Given the description of an element on the screen output the (x, y) to click on. 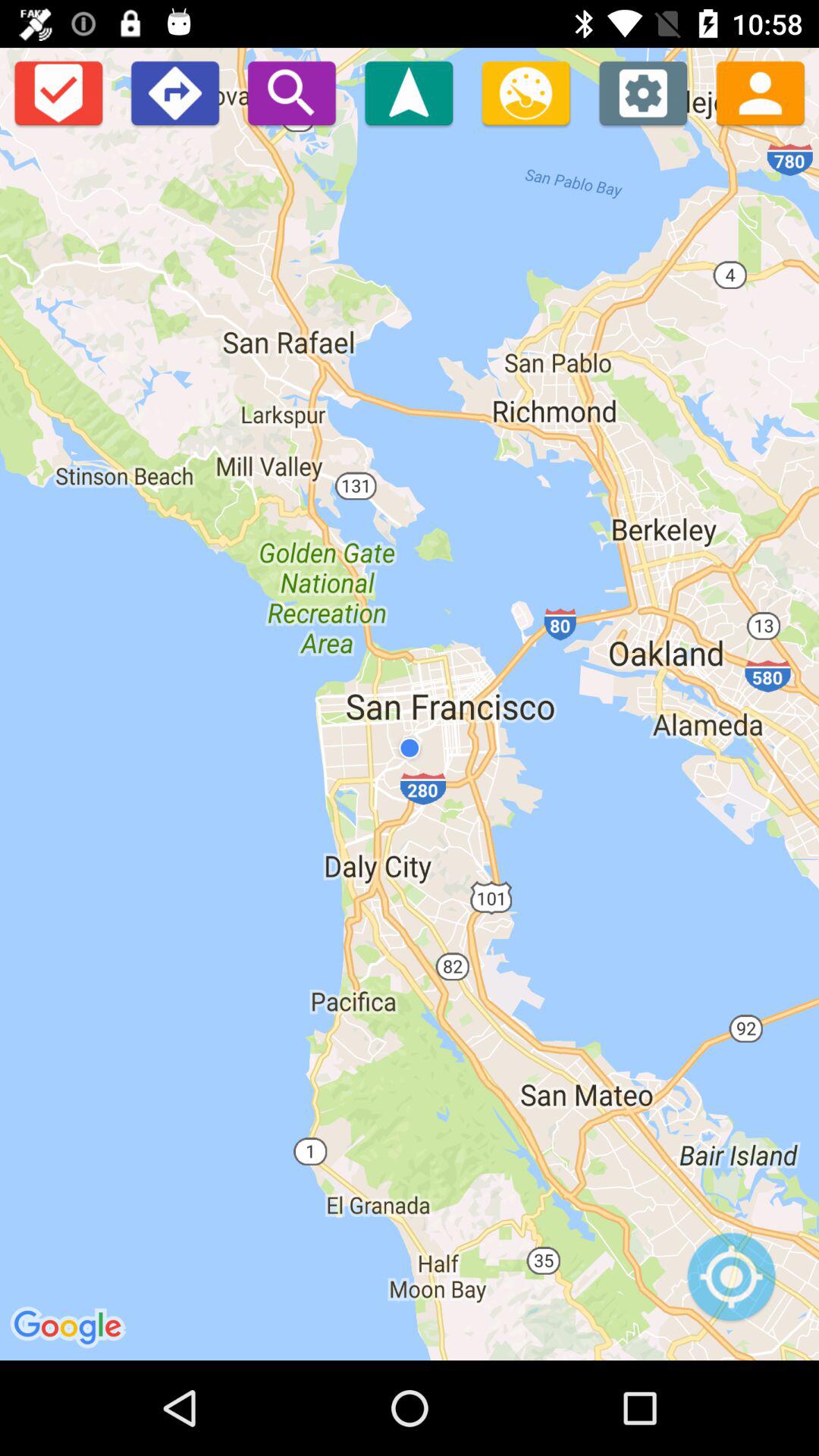
get directions (174, 92)
